Given the description of an element on the screen output the (x, y) to click on. 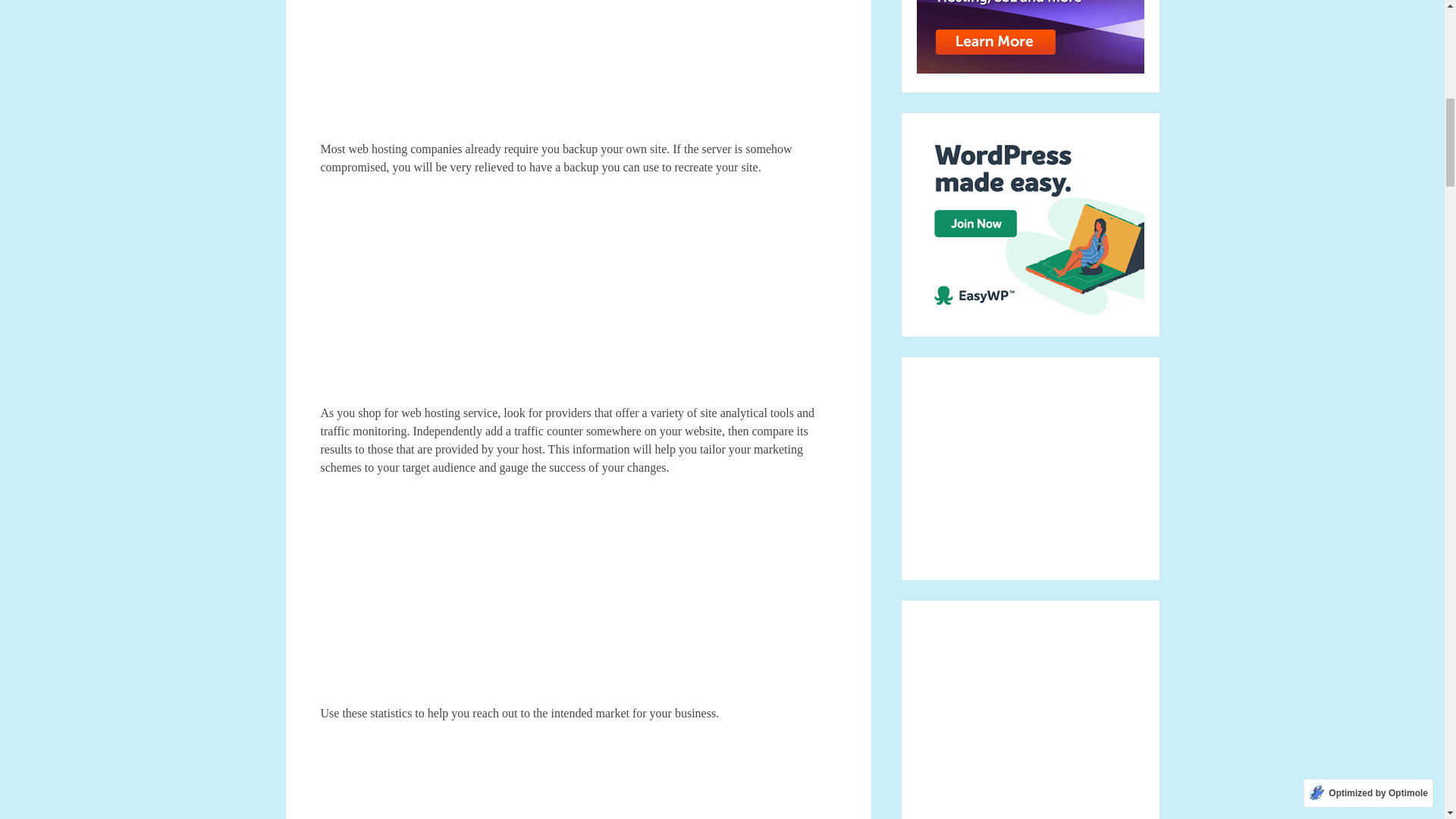
Advertisement (577, 598)
Advertisement (577, 778)
Advertisement (577, 70)
Advertisement (577, 297)
